Given the description of an element on the screen output the (x, y) to click on. 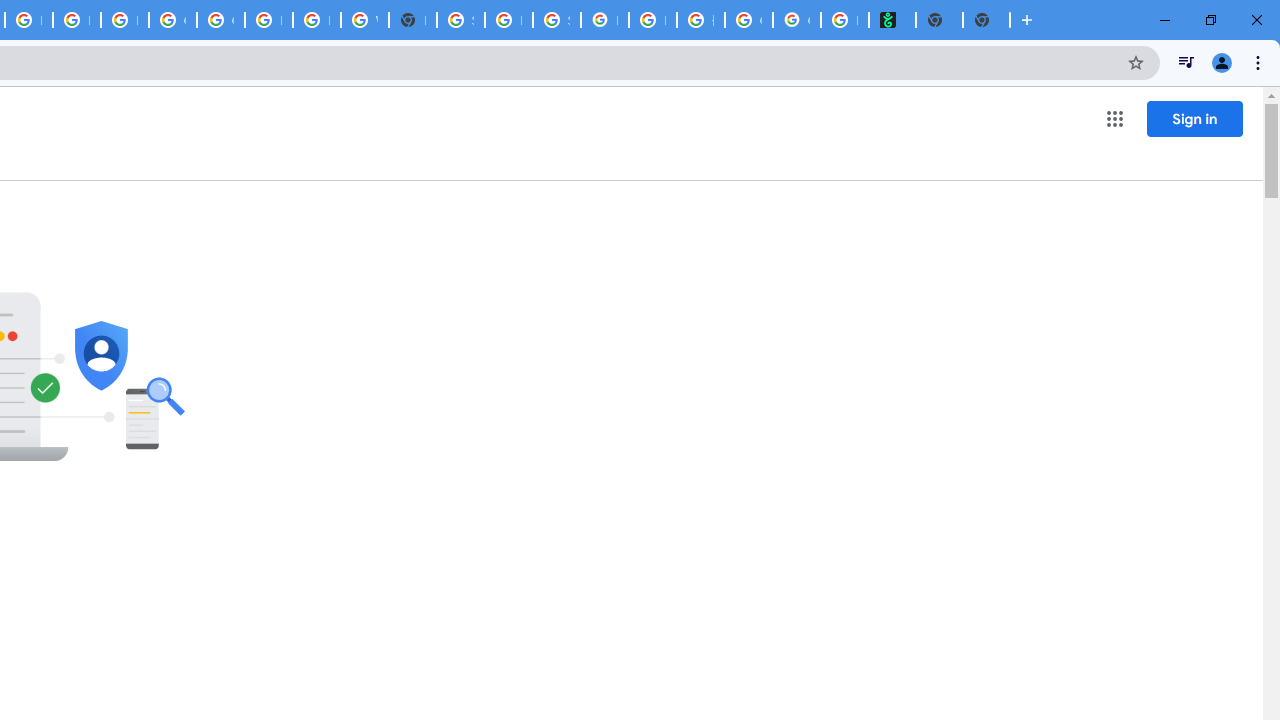
Browse Chrome as a guest - Computer - Google Chrome Help (268, 20)
New Tab (412, 20)
Browse Chrome as a guest - Computer - Google Chrome Help (76, 20)
Google Cloud Platform (220, 20)
Browse Chrome as a guest - Computer - Google Chrome Help (316, 20)
